Given the description of an element on the screen output the (x, y) to click on. 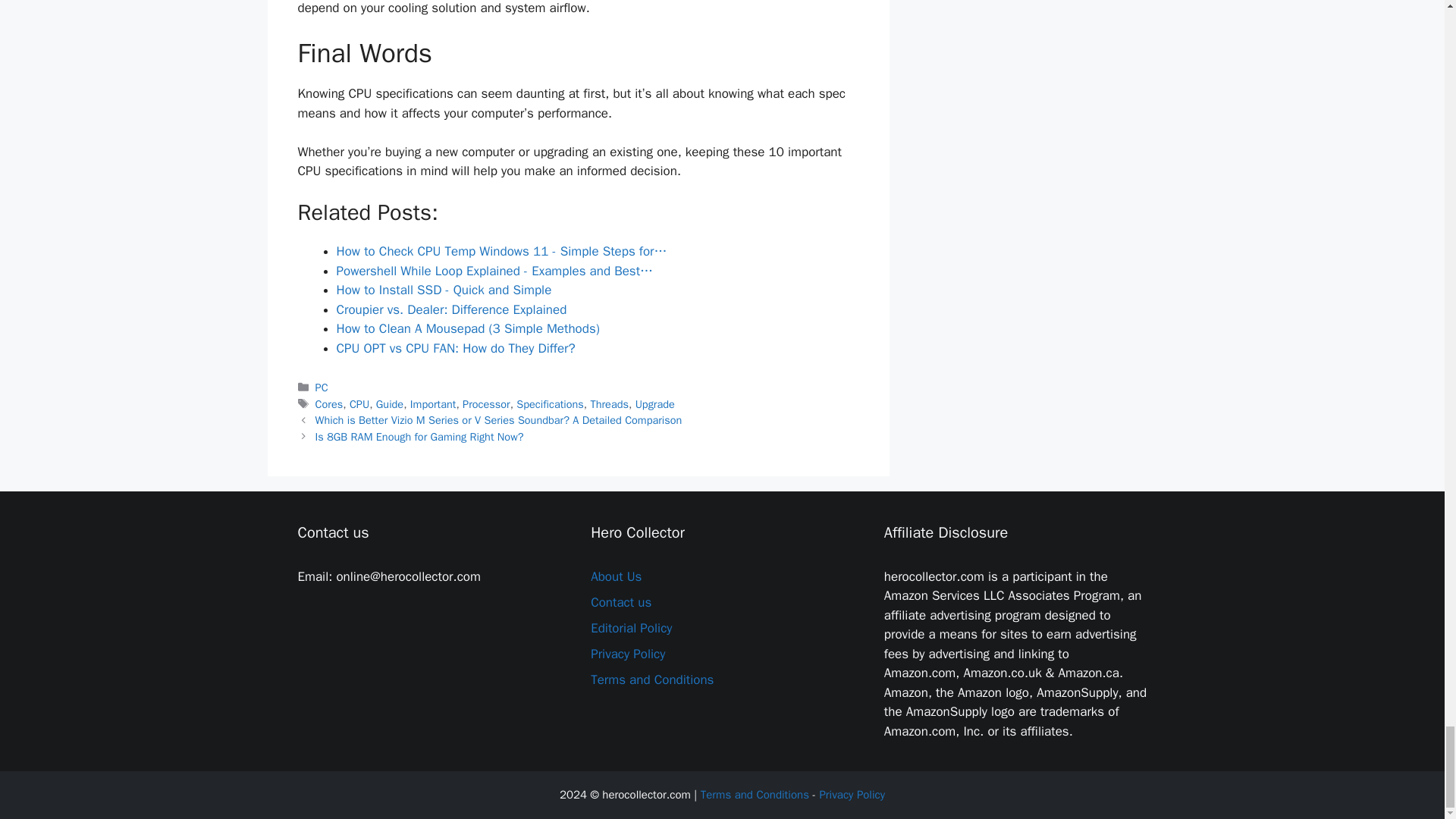
Guide (389, 404)
Important (433, 404)
Cores (329, 404)
Upgrade (654, 404)
Croupier vs. Dealer: Difference Explained (451, 309)
CPU (359, 404)
Specifications (549, 404)
PC (322, 386)
Is 8GB RAM Enough for Gaming Right Now? (419, 436)
